Given the description of an element on the screen output the (x, y) to click on. 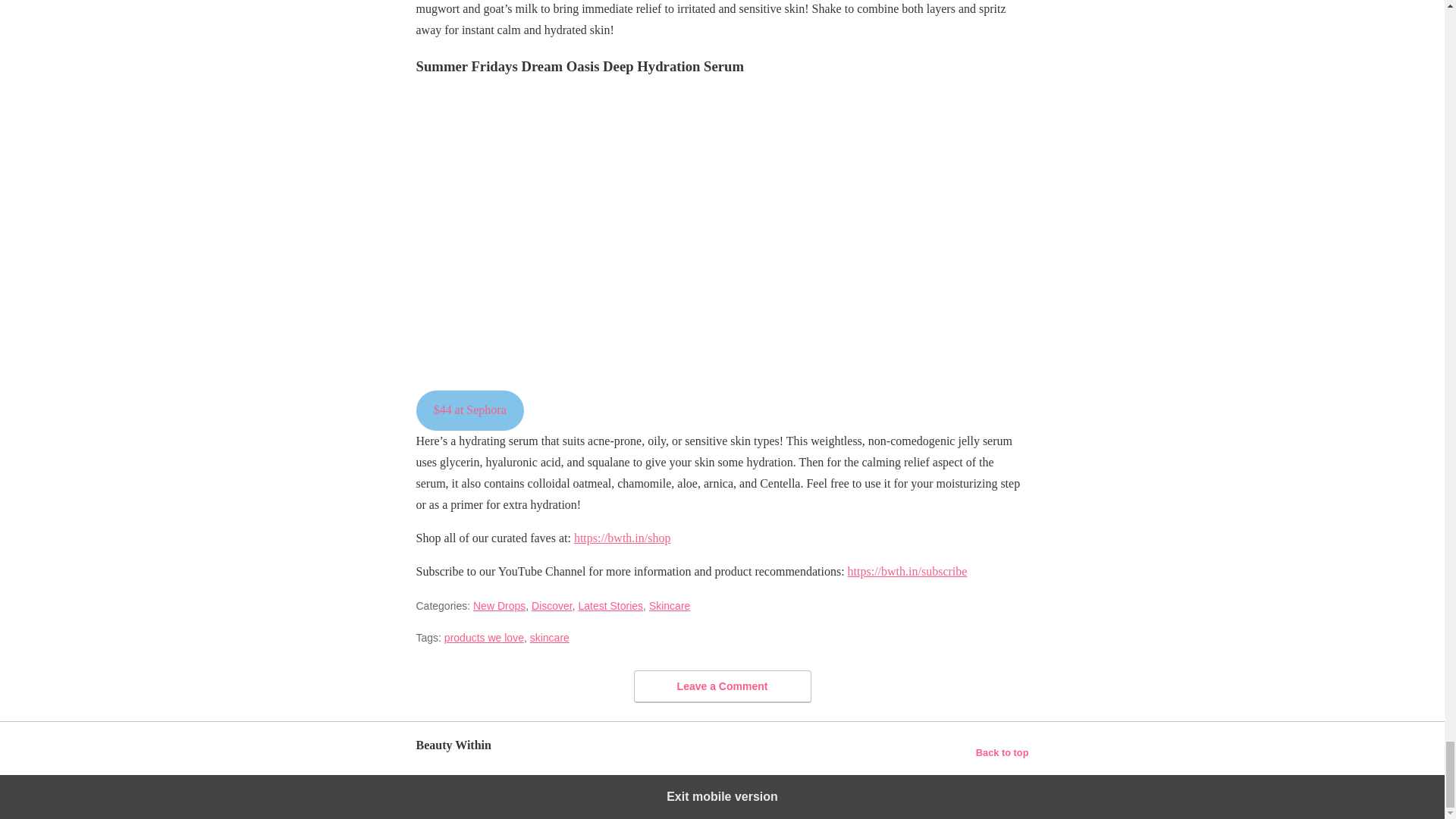
Discover (551, 605)
skincare (549, 637)
Latest Stories (610, 605)
products we love (484, 637)
Skincare (669, 605)
New Drops (499, 605)
